Given the description of an element on the screen output the (x, y) to click on. 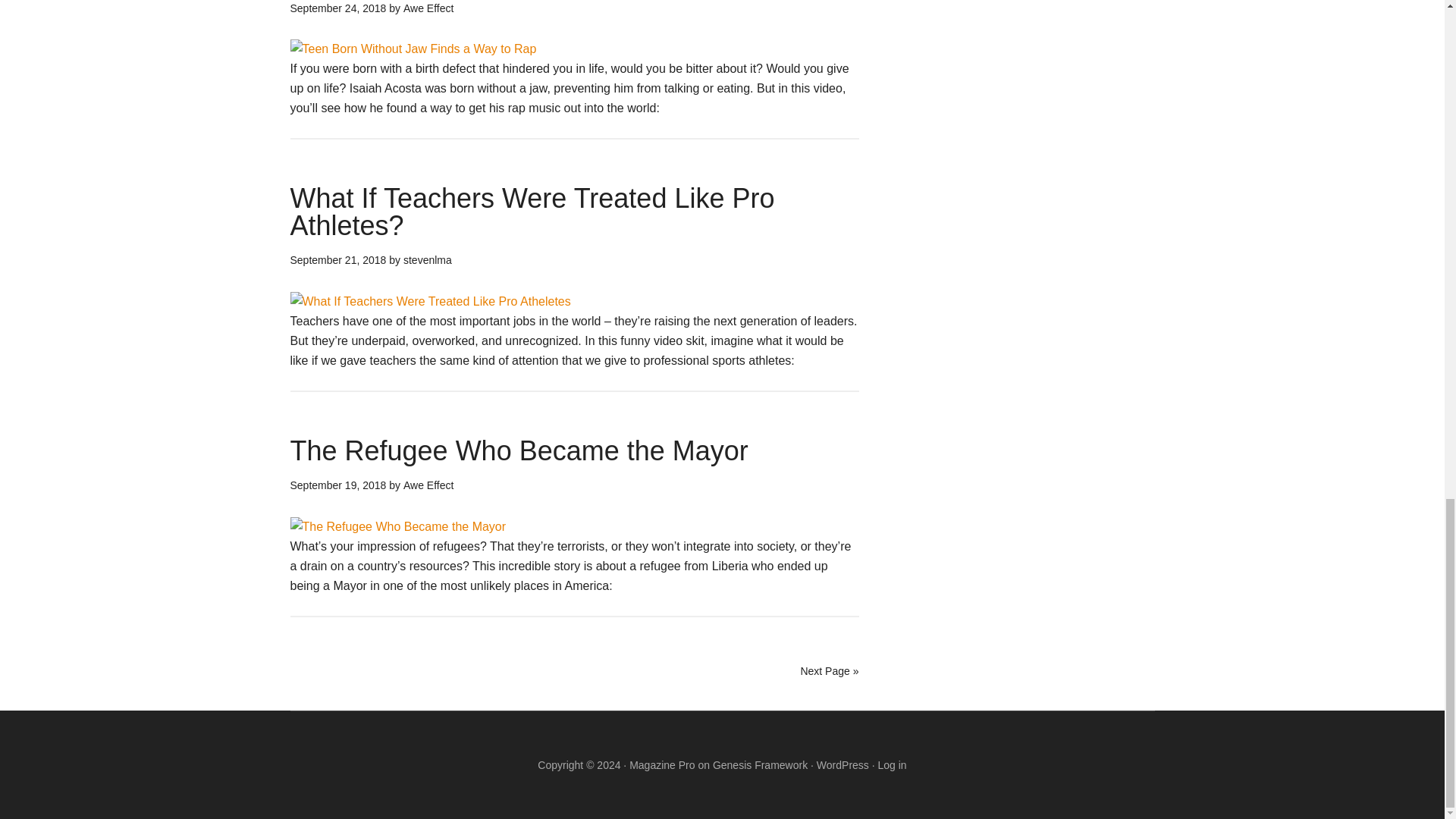
What If Teachers Were Treated Like Pro Athletes? (531, 211)
Log in (892, 765)
The Refugee Who Became the Mayor (518, 450)
WordPress (842, 765)
Awe Effect (427, 8)
stevenlma (427, 259)
Genesis Framework (760, 765)
Awe Effect (427, 485)
Magazine Pro (661, 765)
